Given the description of an element on the screen output the (x, y) to click on. 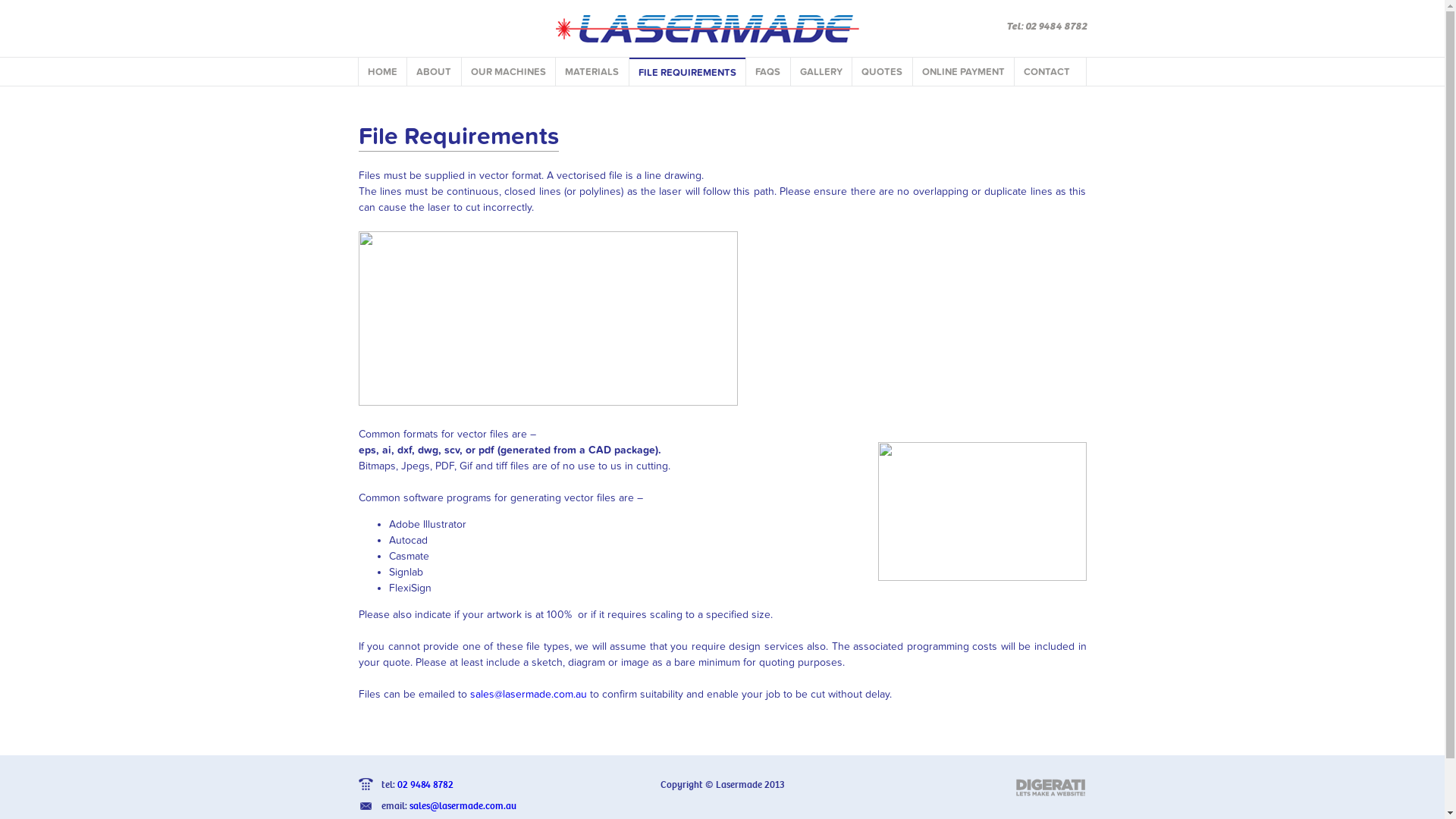
sales@lasermade.com.au Element type: text (462, 805)
MATERIALS Element type: text (591, 71)
CONTACT Element type: text (1046, 71)
ABOUT Element type: text (434, 71)
sales@lasermade.com.au Element type: text (528, 693)
HOME Element type: text (382, 71)
ONLINE PAYMENT Element type: text (963, 71)
FAQS Element type: text (768, 71)
02 9484 8782 Element type: text (425, 784)
Sutherland Shire Web Design Element type: hover (1050, 789)
FILE REQUIREMENTS Element type: text (687, 71)
QUOTES Element type: text (882, 71)
OUR MACHINES Element type: text (508, 71)
GALLERY Element type: text (820, 71)
